Given the description of an element on the screen output the (x, y) to click on. 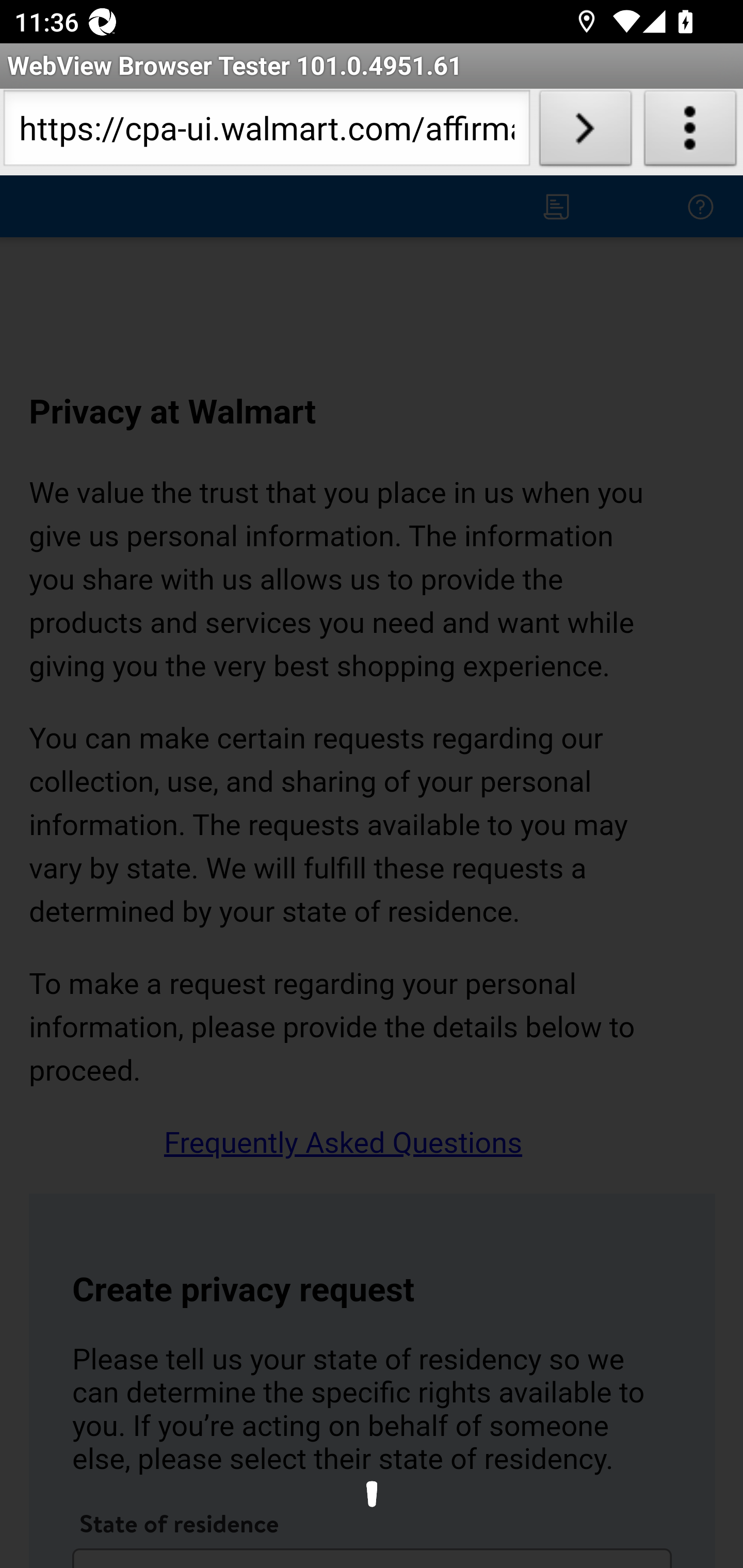
Load URL (585, 132)
About WebView (690, 132)
